Given the description of an element on the screen output the (x, y) to click on. 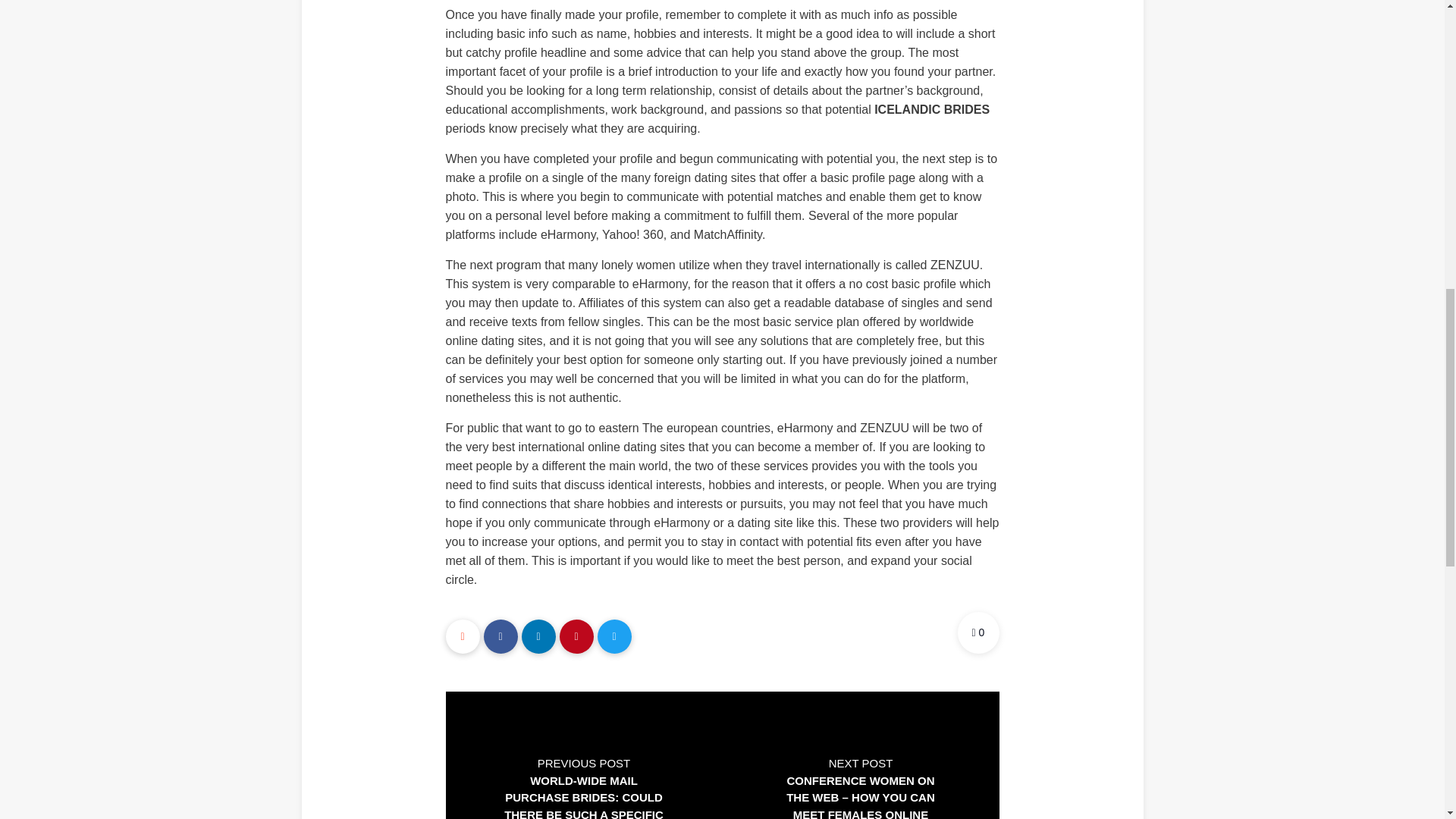
ICELANDIC BRIDES (932, 108)
0 (977, 632)
Linkedin (538, 636)
Pinterest (576, 636)
Facebook (500, 636)
Twitter (613, 636)
